Given the description of an element on the screen output the (x, y) to click on. 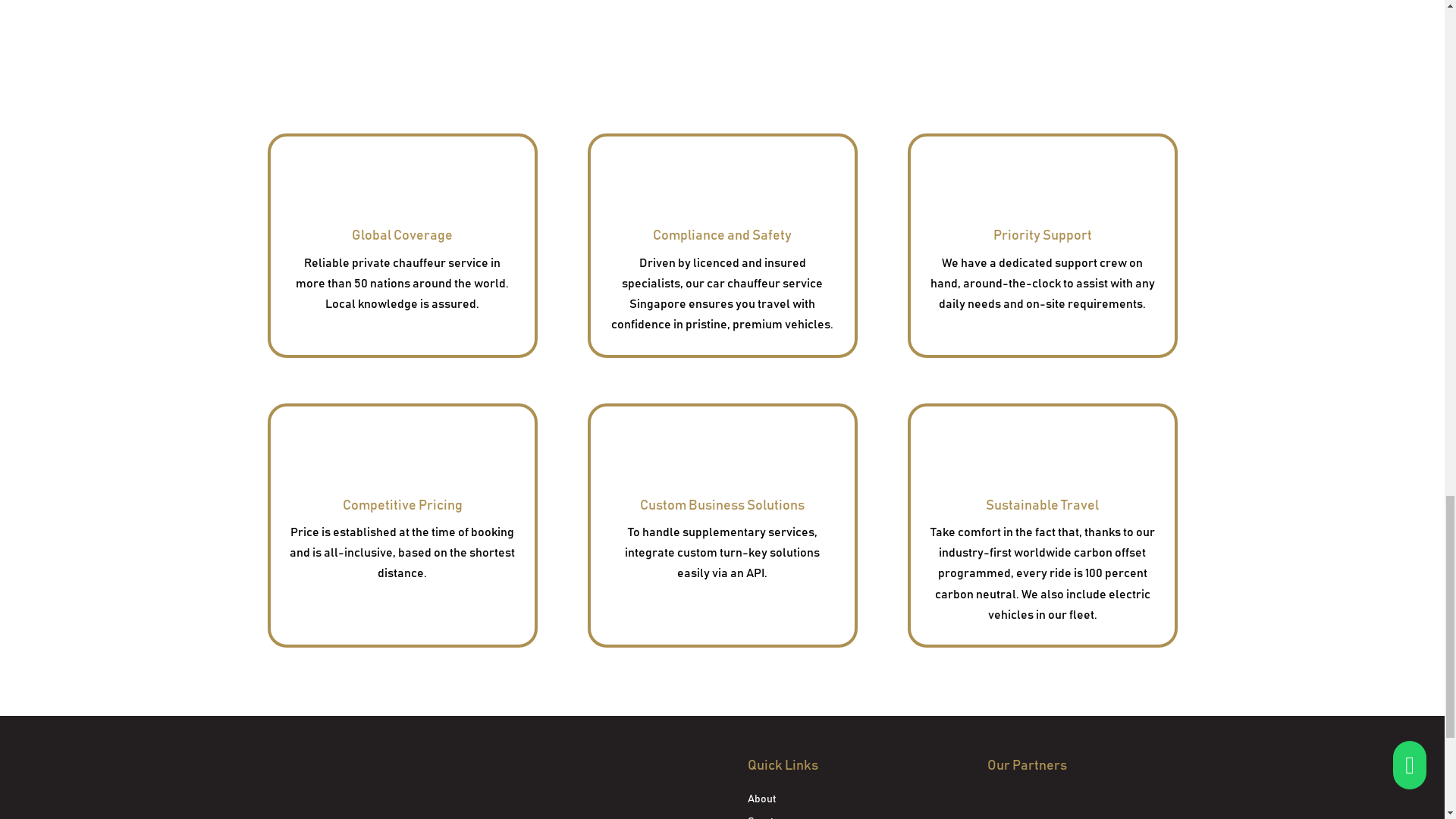
limo-z-logo-footer (304, 778)
booking-logo-bg (1055, 806)
